Given the description of an element on the screen output the (x, y) to click on. 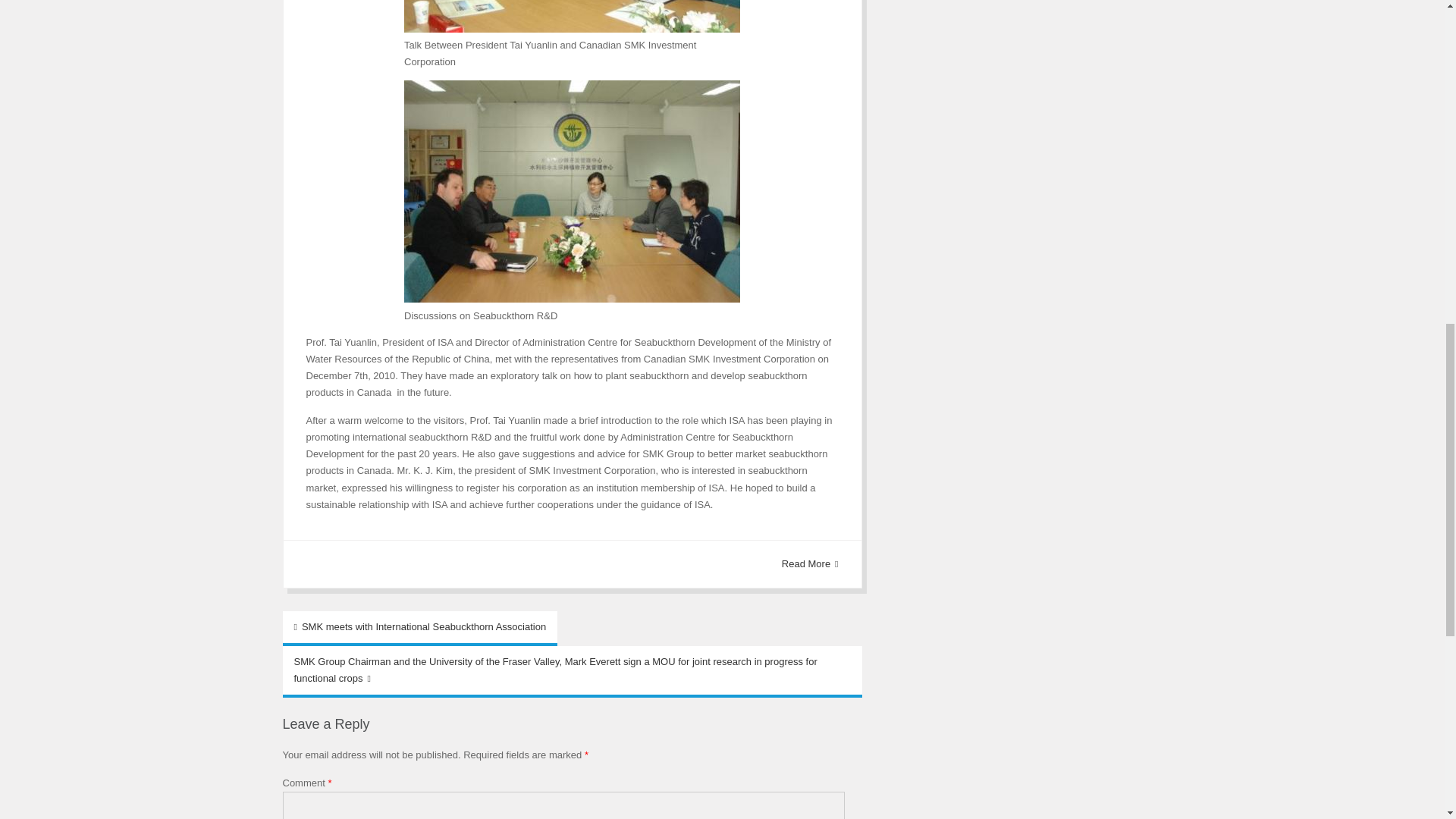
Read More (809, 564)
SMK meets with International Seabuckthorn Association (419, 628)
